Given the description of an element on the screen output the (x, y) to click on. 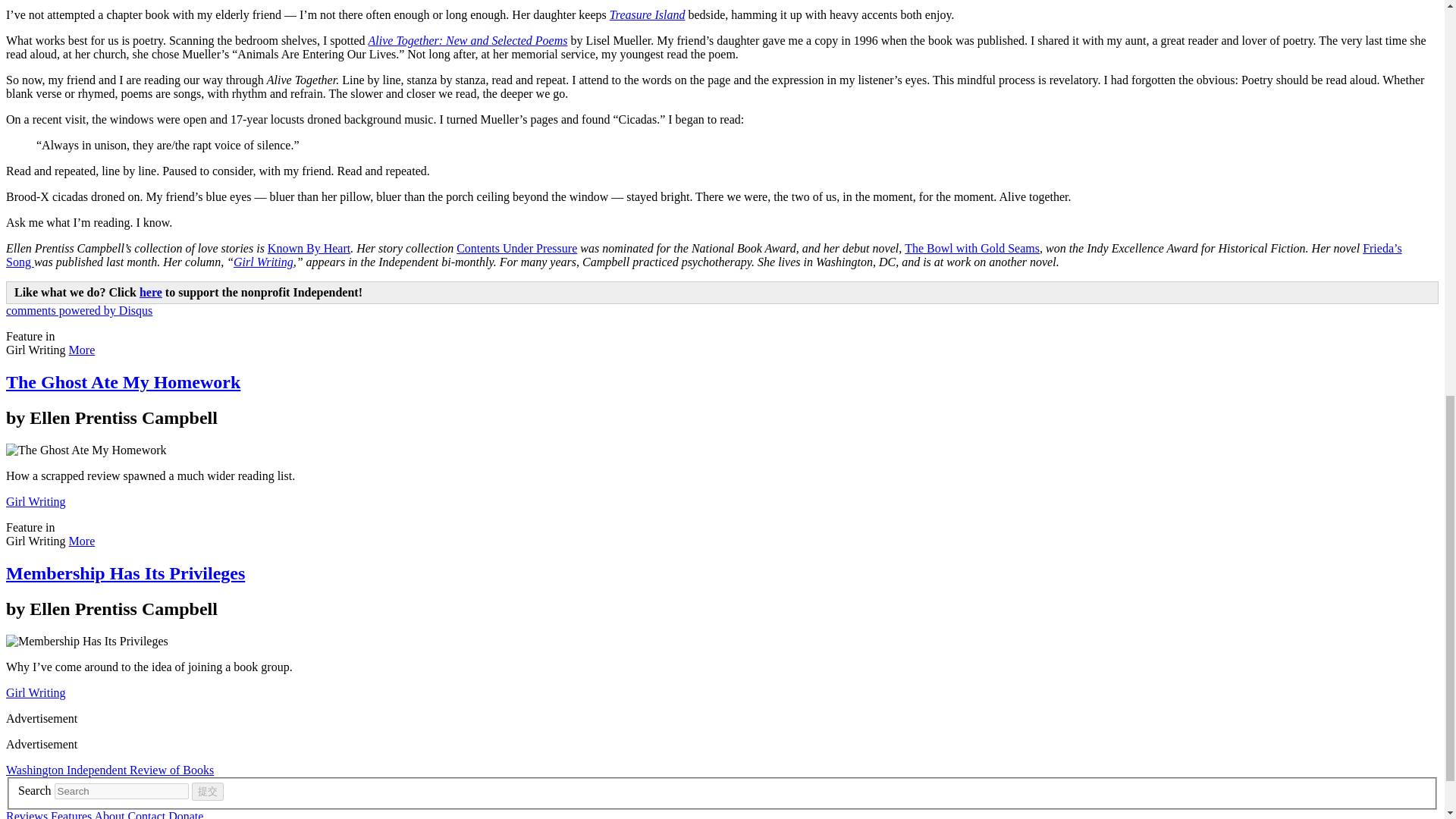
Treasure Island (647, 14)
Alive Together: New and Selected Poems (467, 40)
Contents Under Pressure (516, 247)
The Ghost Ate My Homework (122, 382)
here (150, 291)
More (82, 349)
comments powered by Disqus (78, 309)
Girl Writing (35, 501)
Girl Writing (263, 261)
Known By Heart (308, 247)
